Given the description of an element on the screen output the (x, y) to click on. 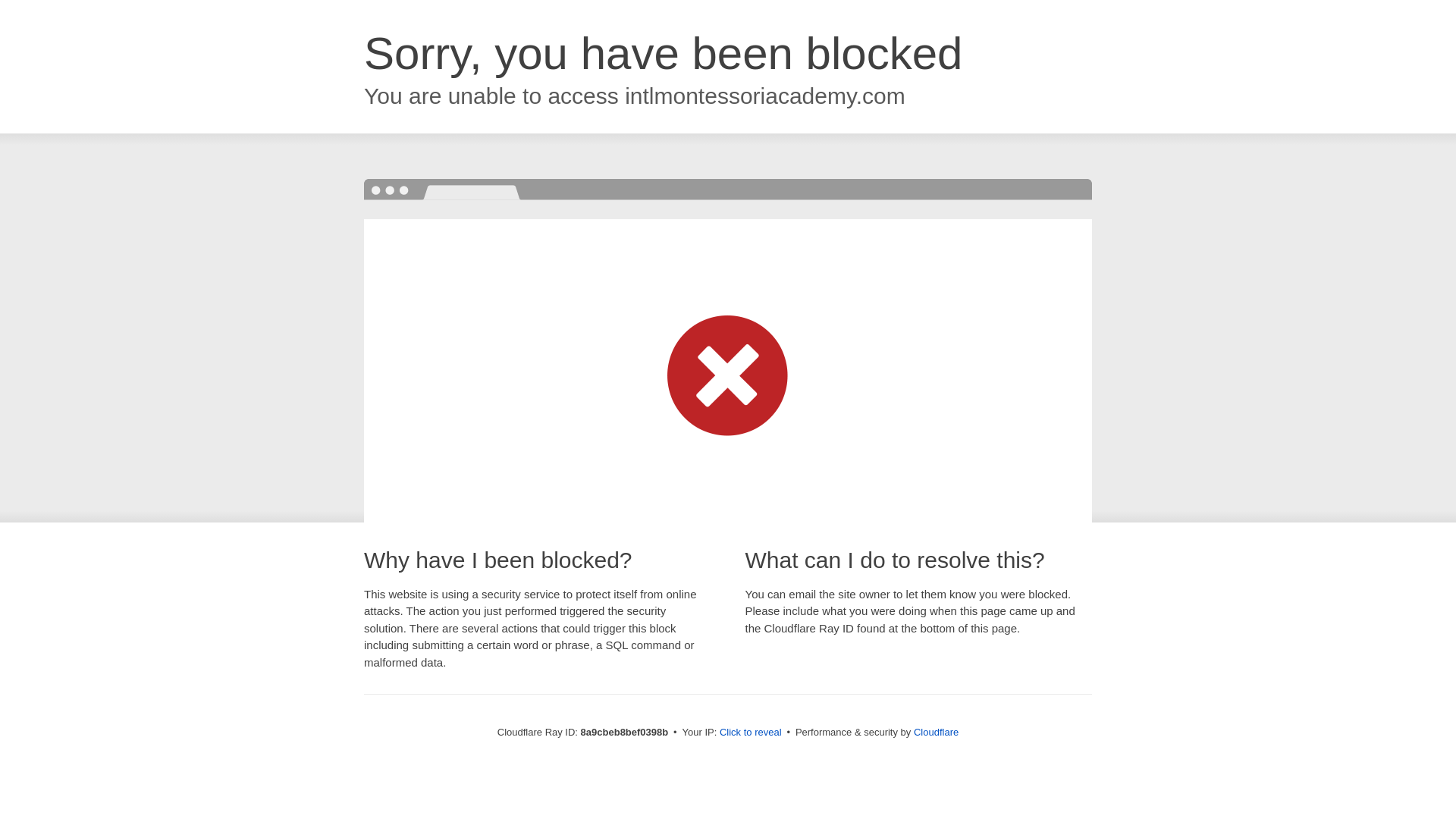
Click to reveal (750, 732)
Cloudflare (936, 731)
